Given the description of an element on the screen output the (x, y) to click on. 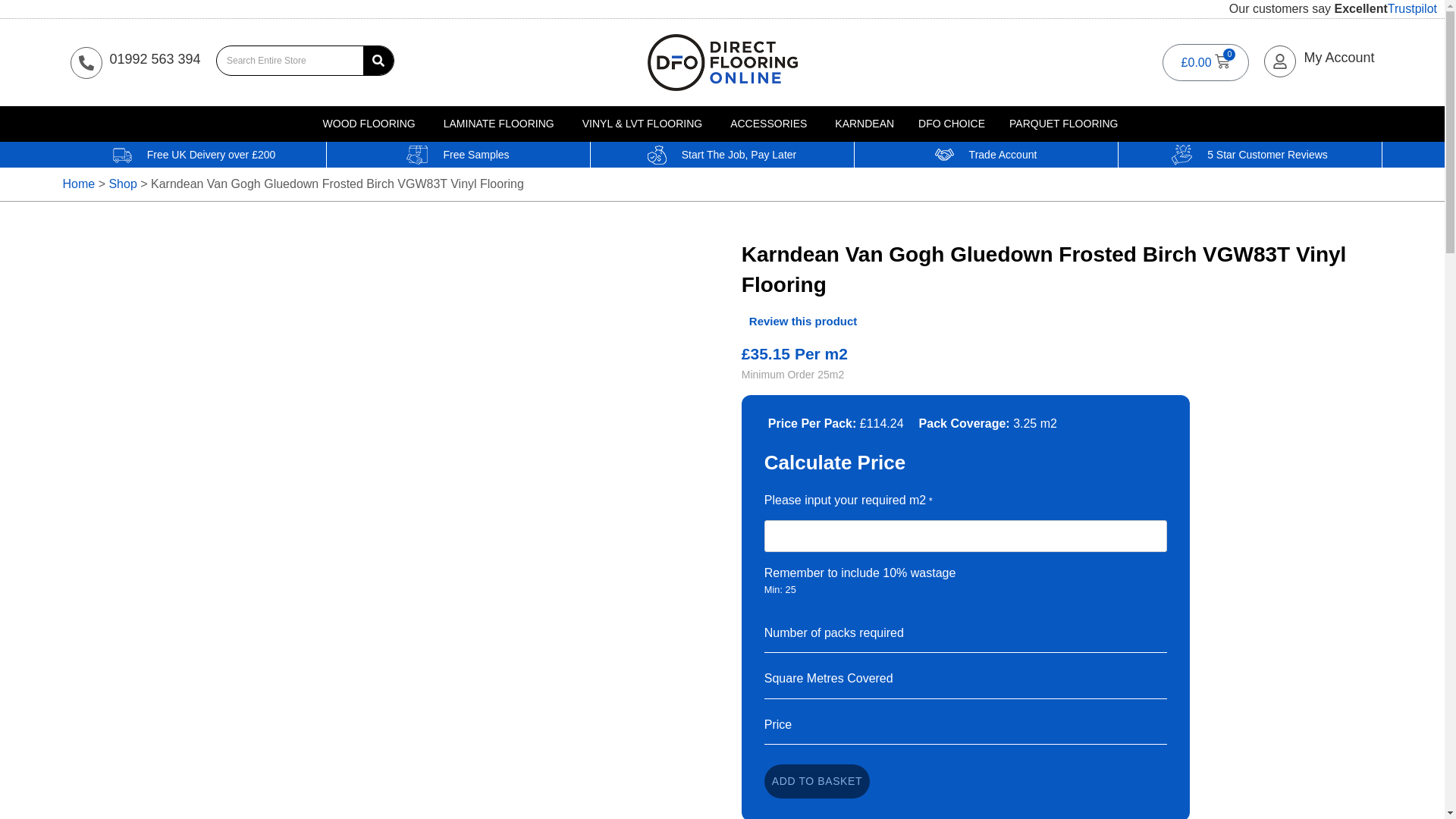
01992 563 394 (154, 58)
My Account (1338, 57)
WOOD FLOORING (368, 123)
Trustpilot (1412, 8)
